Given the description of an element on the screen output the (x, y) to click on. 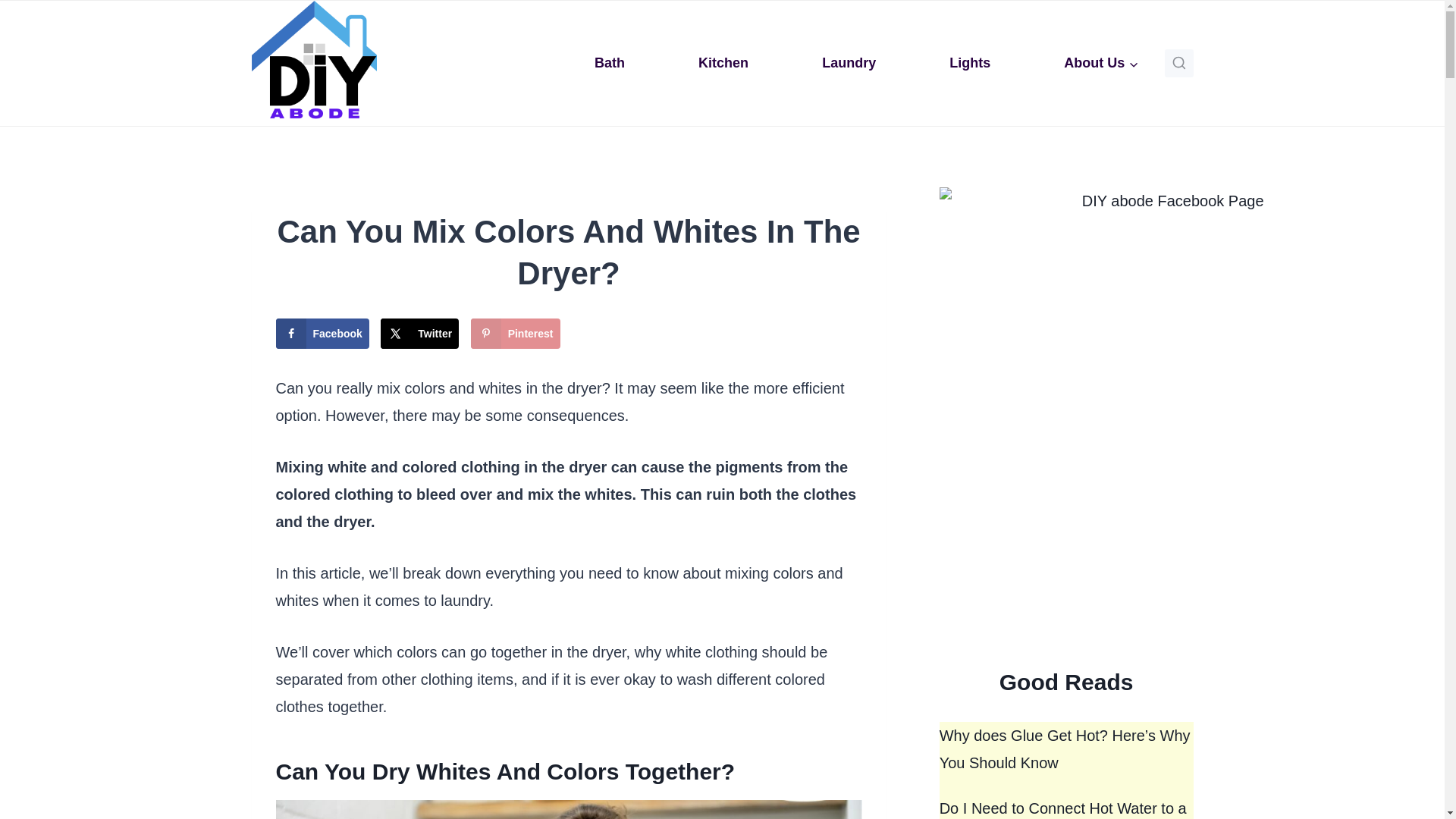
Twitter (419, 333)
Laundry (848, 62)
Share on X (419, 333)
Save to Pinterest (515, 333)
Lights (970, 62)
Facebook (322, 333)
Pinterest (515, 333)
About Us (1101, 62)
Share on Facebook (322, 333)
Bath (609, 62)
